Given the description of an element on the screen output the (x, y) to click on. 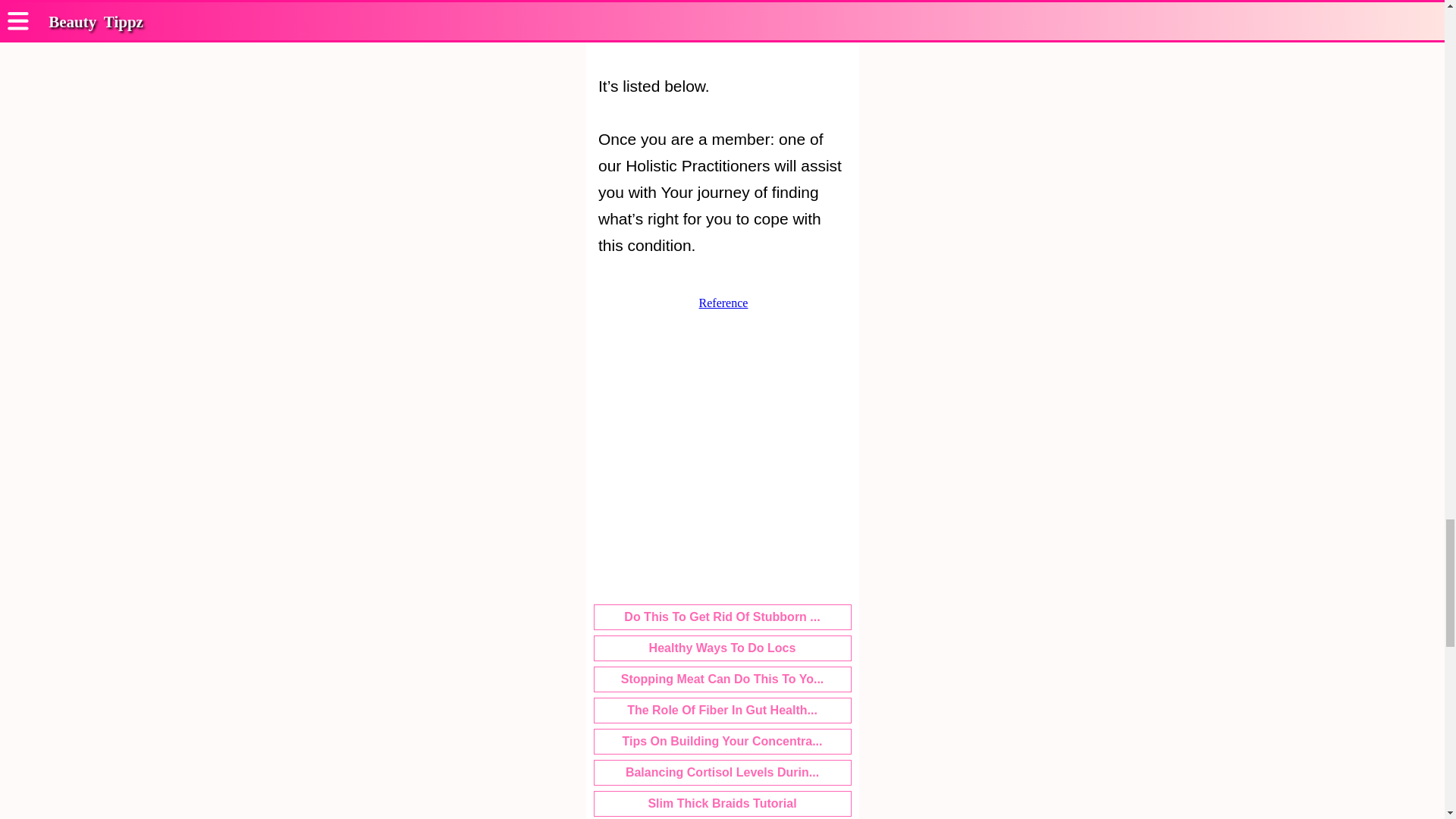
Do This To Get Rid Of Stubborn ... (722, 616)
Reference (723, 302)
Slim Thick Braids Tutorial (722, 803)
Healthy Ways To Do Locs (722, 647)
Tips On Building Your Concentra... (722, 741)
Stopping Meat Can Do This To Yo... (722, 679)
The Role Of Fiber In Gut Health... (722, 710)
Balancing Cortisol Levels Durin... (722, 772)
